Given the description of an element on the screen output the (x, y) to click on. 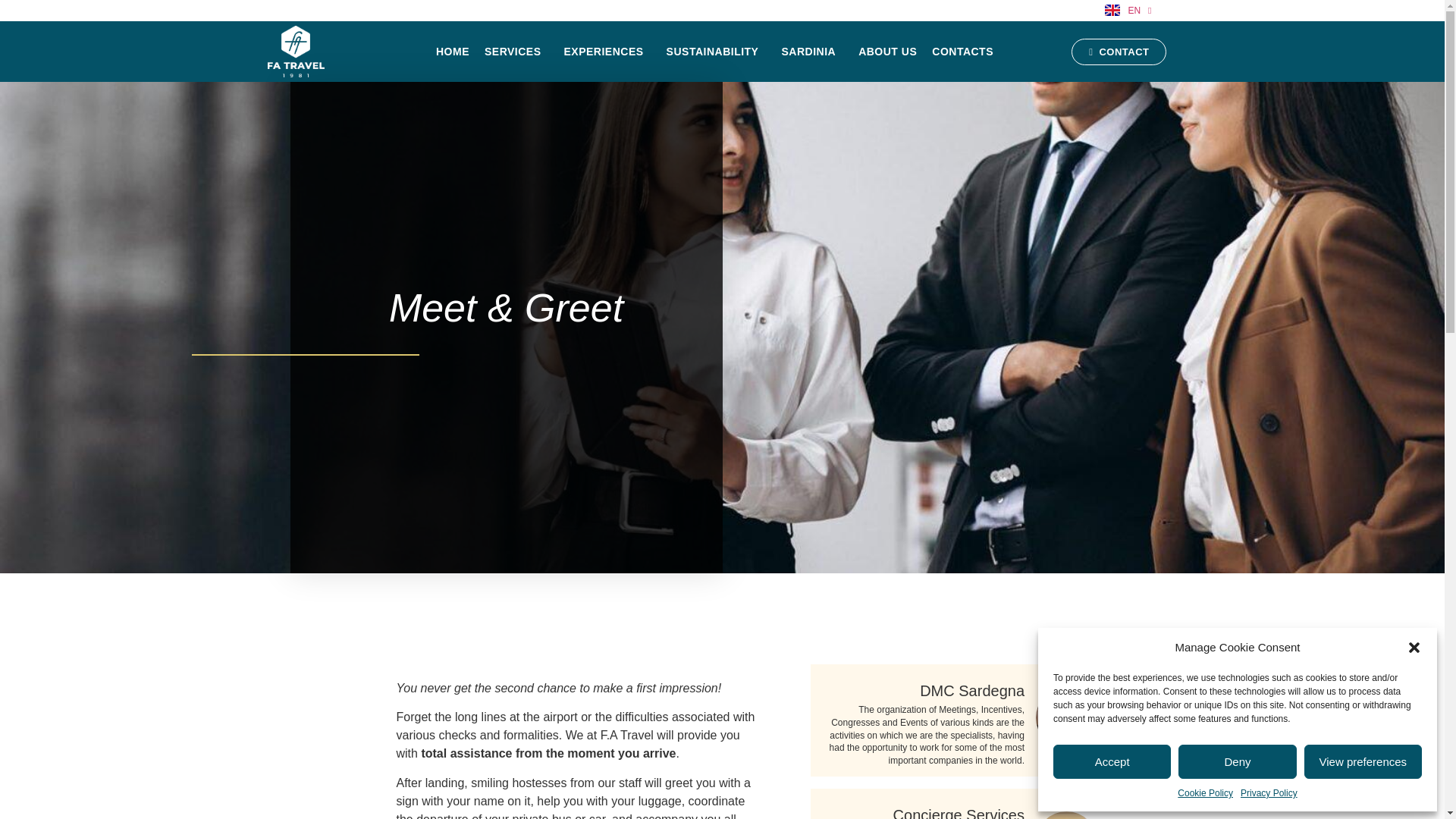
Cookie Policy (1205, 793)
Privacy Policy (1268, 793)
HOME (452, 51)
SERVICES (516, 51)
Accept (1111, 761)
EN (1128, 10)
View preferences (1363, 761)
Deny (1236, 761)
